Given the description of an element on the screen output the (x, y) to click on. 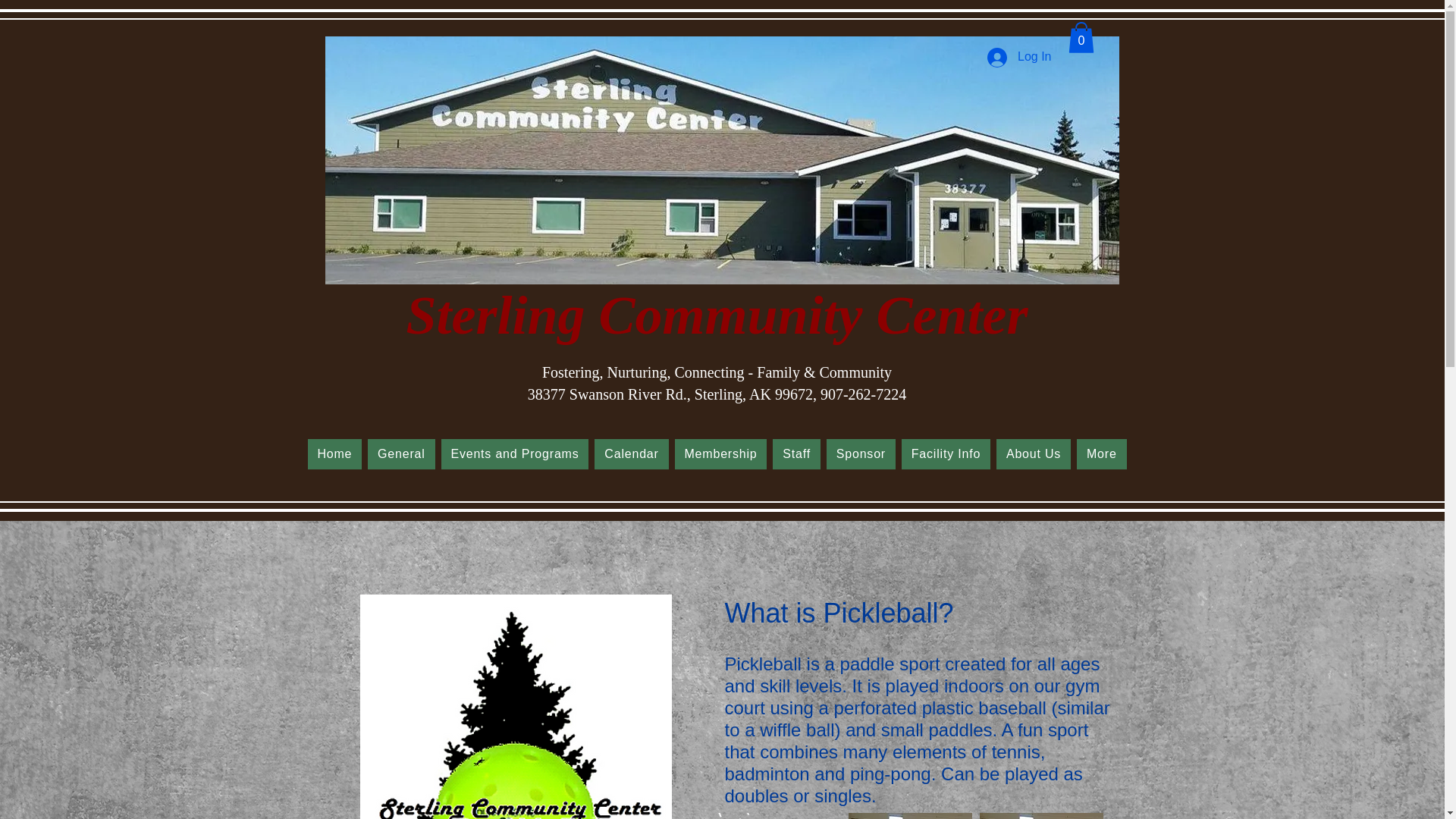
Staff (796, 453)
More (1101, 453)
Events and Programs (515, 453)
General (400, 453)
Calendar (631, 453)
Sponsor (861, 453)
Home (334, 453)
Facility Info (945, 453)
Log In (1018, 57)
Membership (721, 453)
About Us (1032, 453)
